Given the description of an element on the screen output the (x, y) to click on. 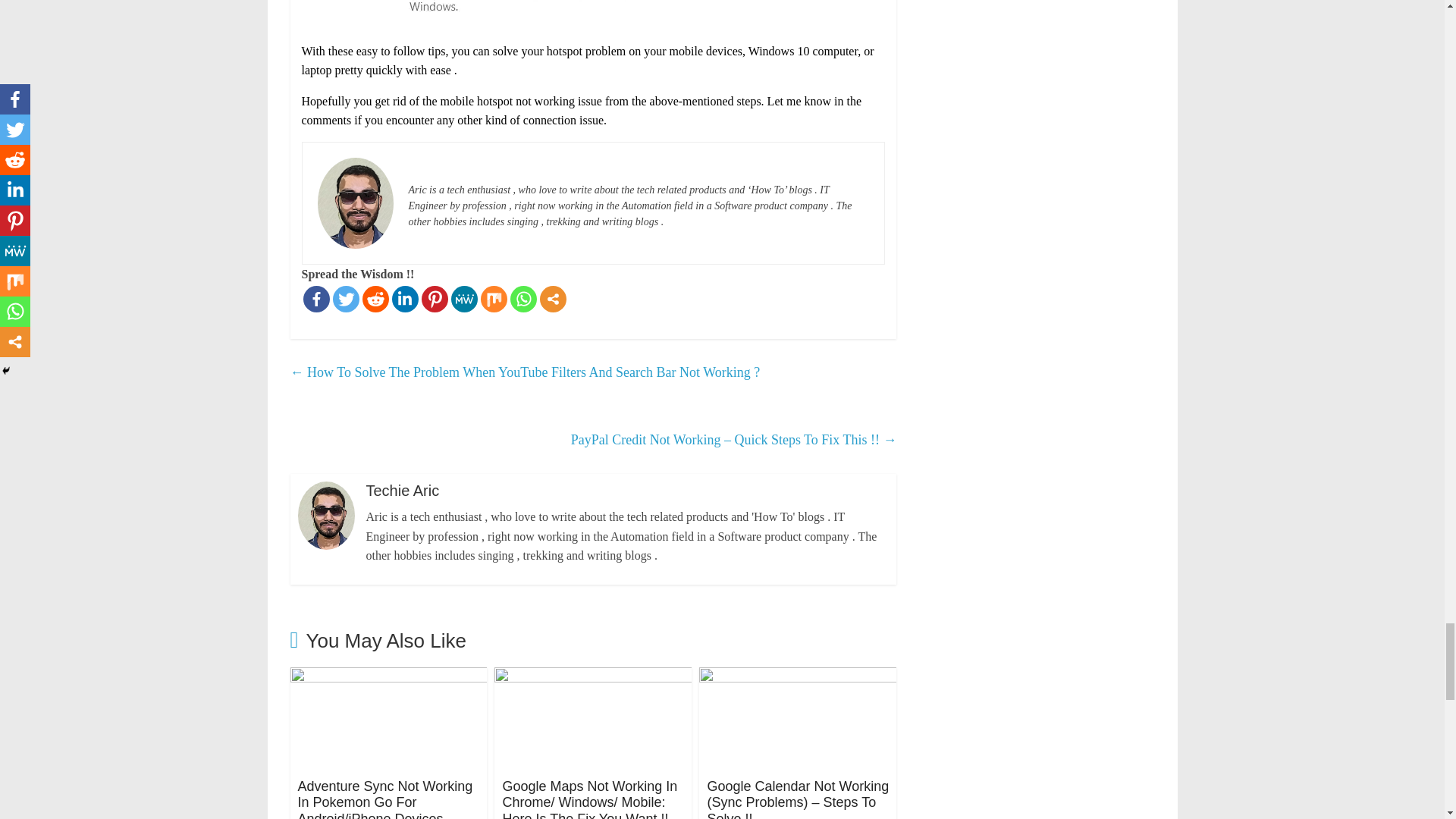
Reddit (375, 298)
Pinterest (435, 298)
Twitter (344, 298)
Techie Aric (442, 167)
Mobile Hotspot Not Working On A Laptop (593, 15)
Facebook (316, 298)
Linkedin (404, 298)
